Given the description of an element on the screen output the (x, y) to click on. 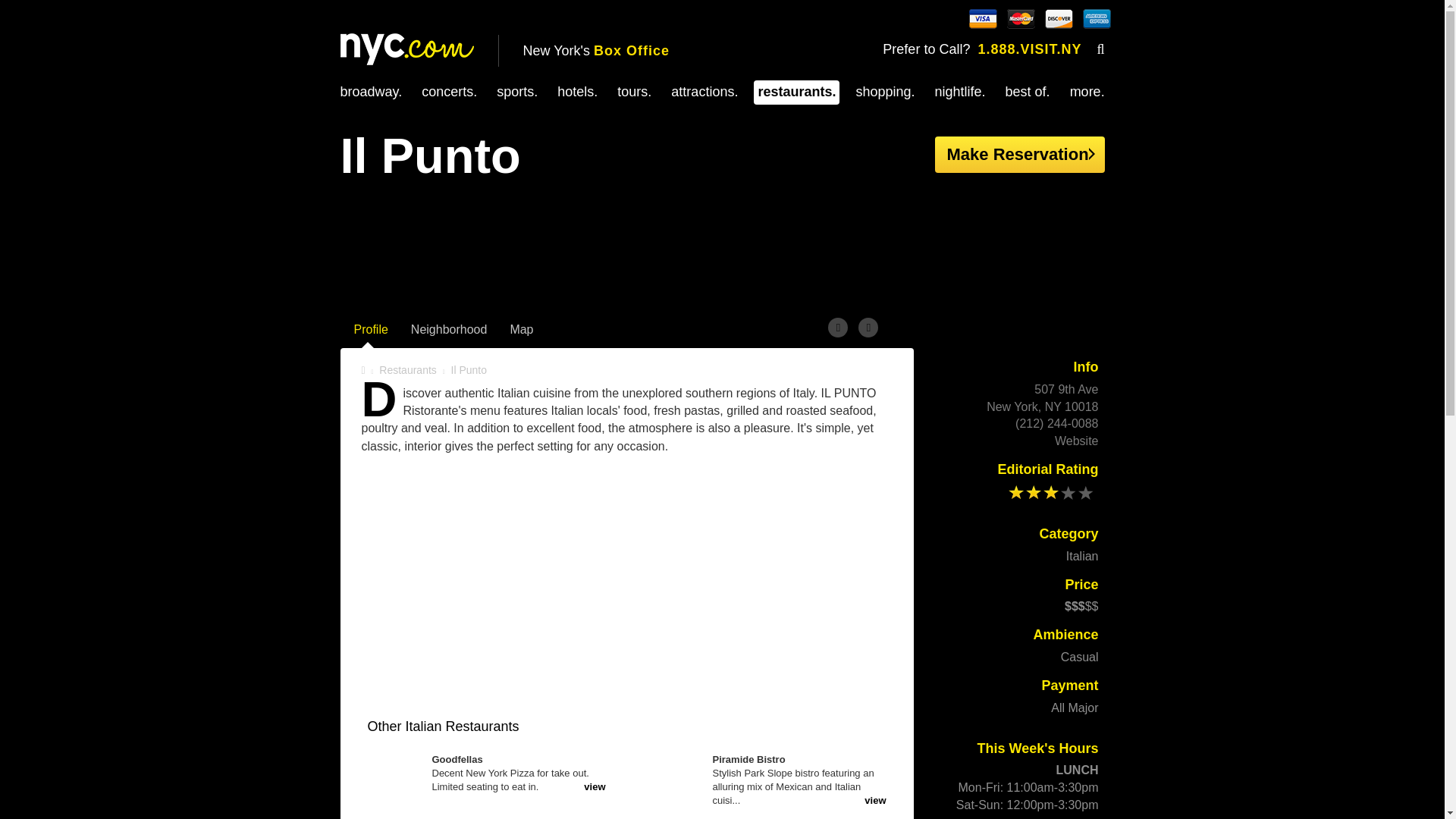
restaurants. (796, 91)
tours. (633, 91)
hotels. (576, 91)
attractions. (704, 91)
more. (1087, 91)
broadway. (370, 91)
best of. (1027, 91)
concerts. (449, 91)
nightlife. (959, 91)
shopping. (885, 91)
sports. (516, 91)
